Given the description of an element on the screen output the (x, y) to click on. 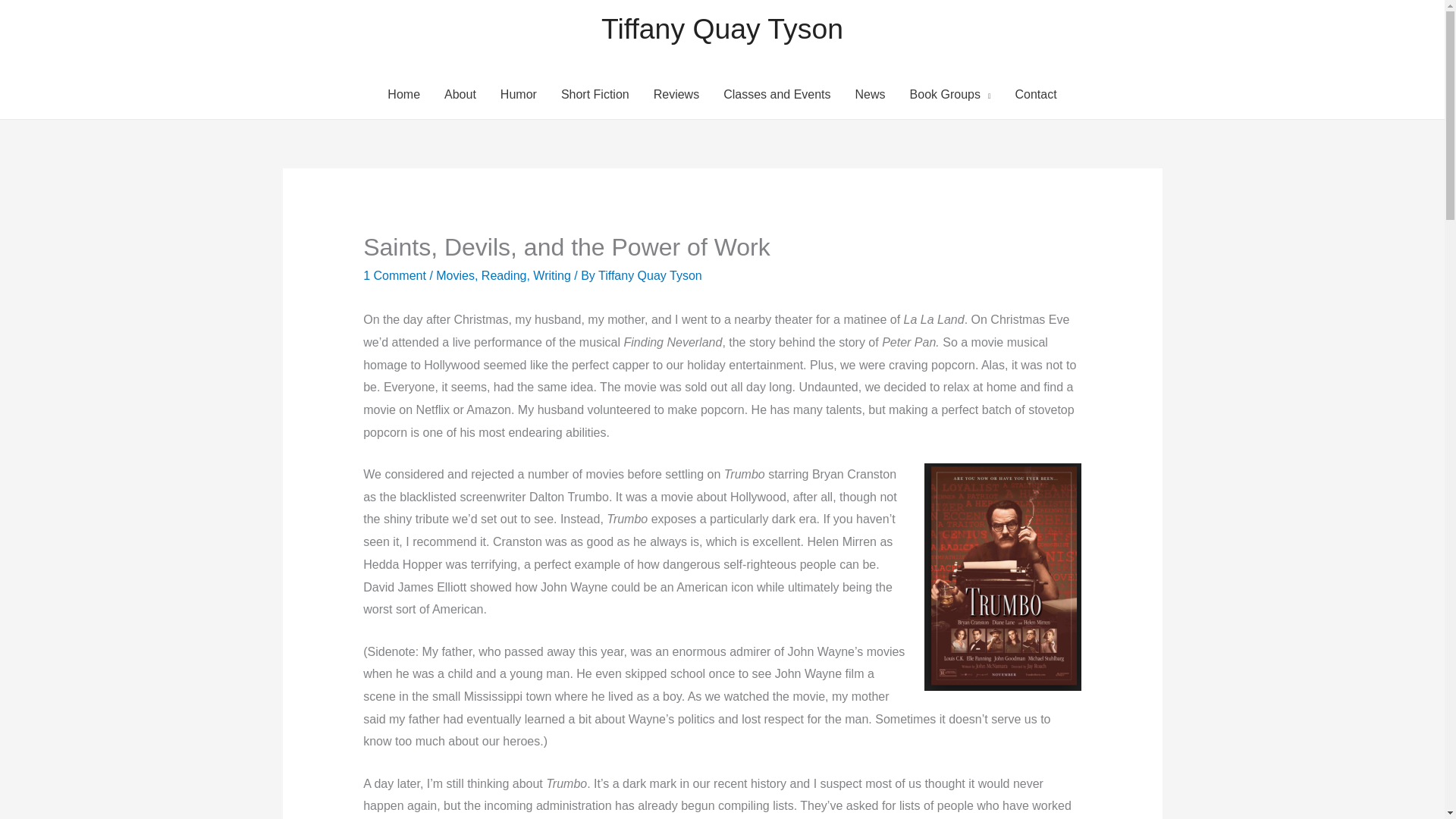
Tiffany Quay Tyson (722, 29)
Short Fiction (595, 94)
Contact (1035, 94)
Tiffany Quay Tyson (649, 275)
Reviews (676, 94)
Classes and Events (777, 94)
Writing (551, 275)
View all posts by Tiffany Quay Tyson (649, 275)
Humor (517, 94)
About (459, 94)
